Given the description of an element on the screen output the (x, y) to click on. 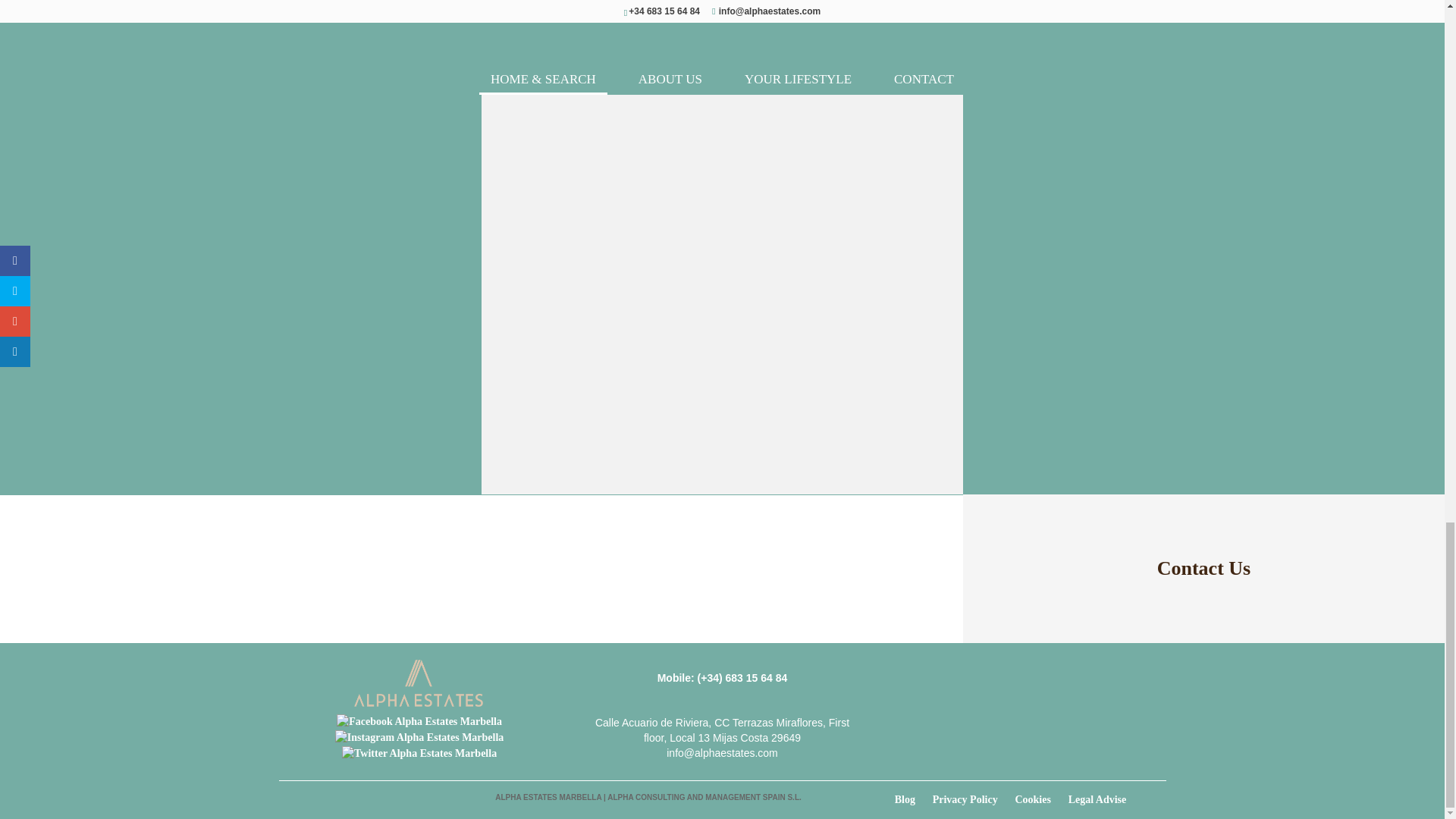
Cookies (1039, 799)
Blog (912, 799)
Legal Advise (1104, 799)
Privacy Policy (973, 799)
